Given the description of an element on the screen output the (x, y) to click on. 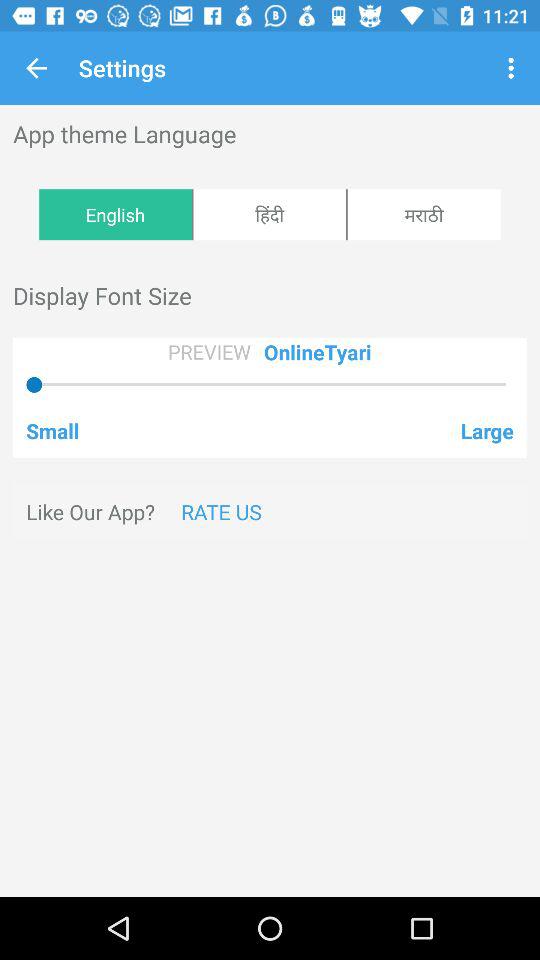
choose the item above app theme language icon (36, 68)
